Given the description of an element on the screen output the (x, y) to click on. 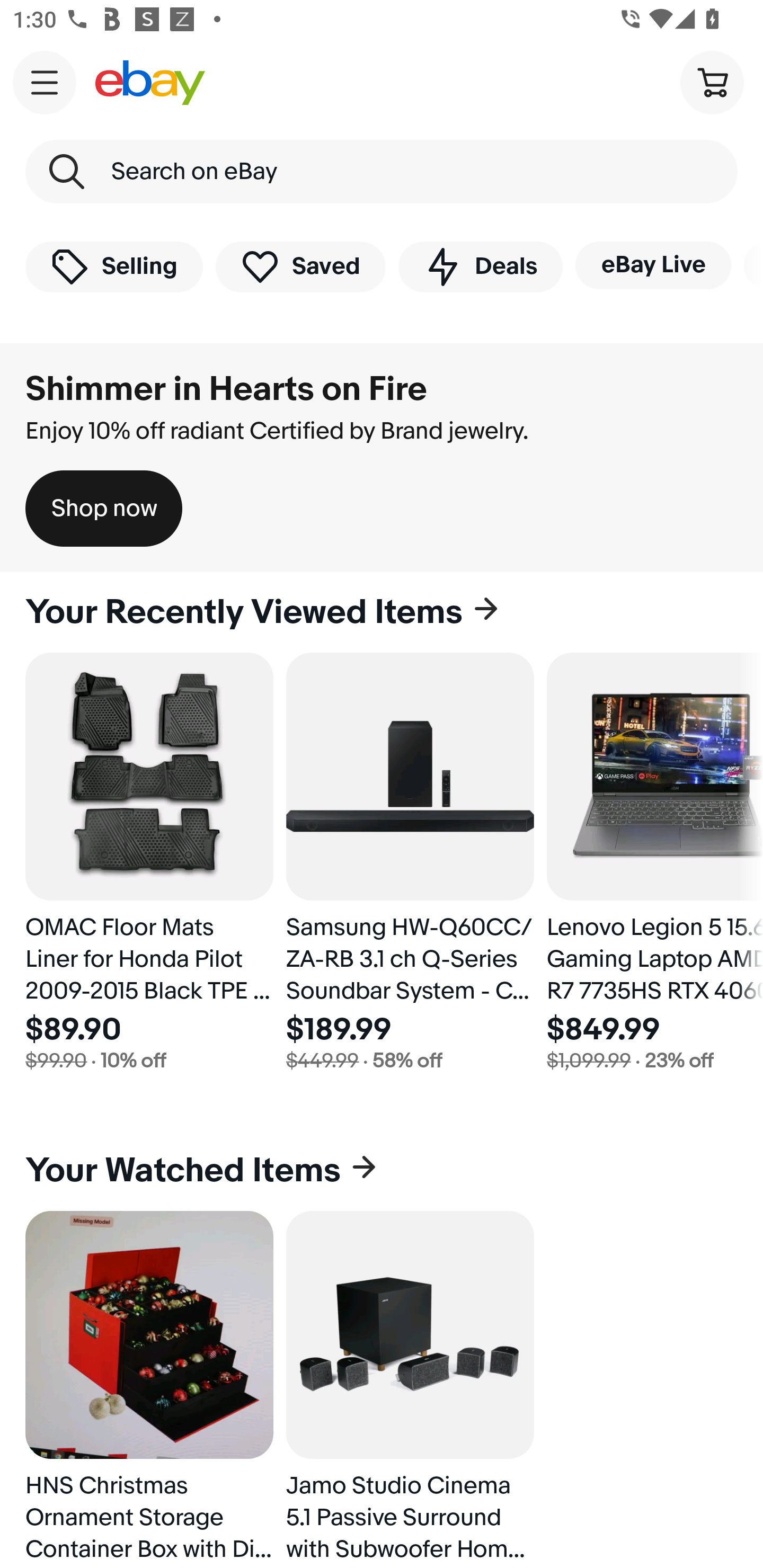
Main navigation, open (44, 82)
Cart button shopping cart (711, 81)
Search on eBay Search Keyword Search on eBay (381, 171)
Selling (113, 266)
Saved (300, 266)
Deals (480, 266)
eBay Live (652, 264)
Shimmer in Hearts on Fire (226, 389)
Shop now (103, 508)
Your Recently Viewed Items   (381, 612)
Your Watched Items   (381, 1170)
